Given the description of an element on the screen output the (x, y) to click on. 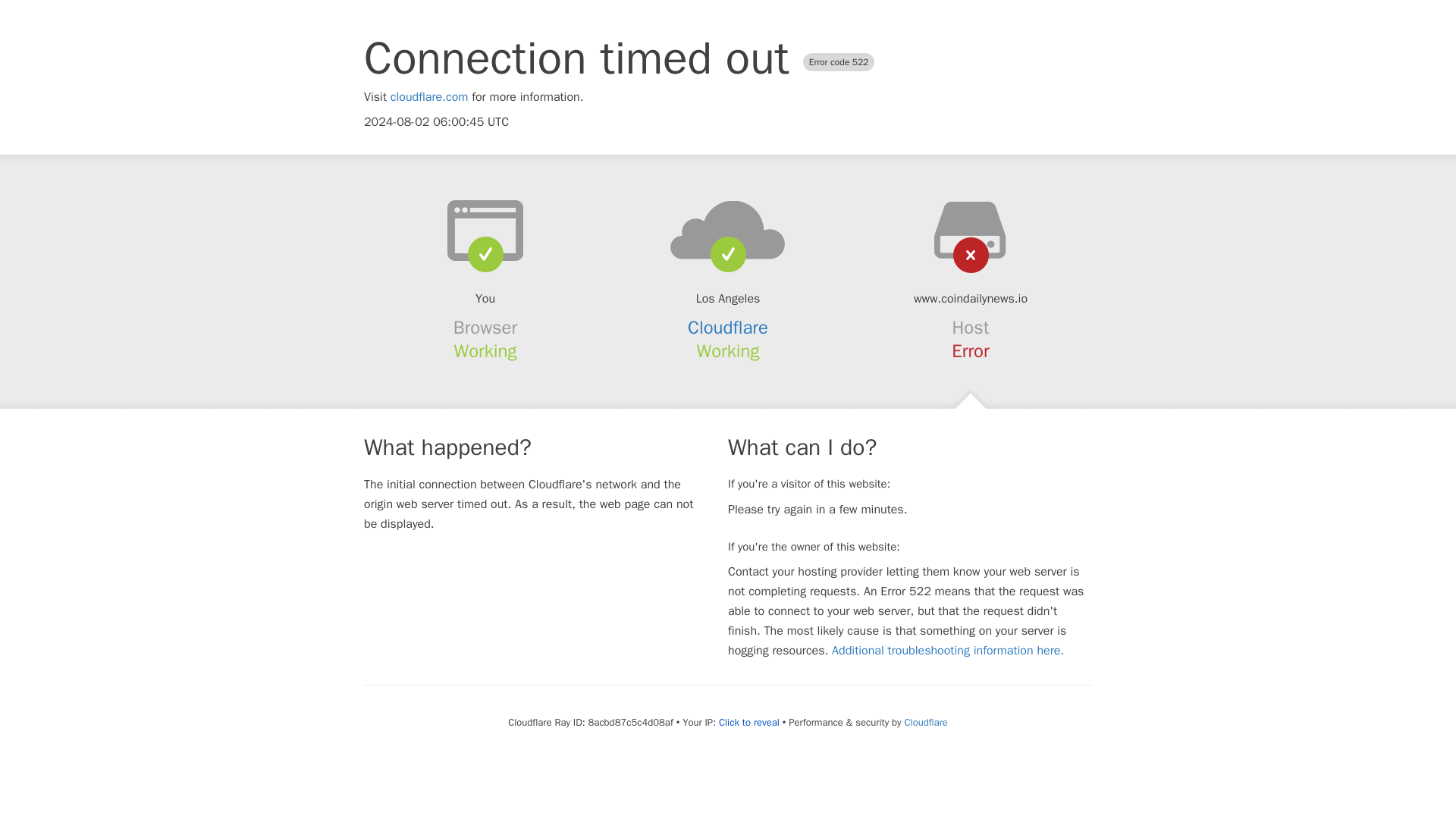
Click to reveal (748, 722)
cloudflare.com (429, 96)
Cloudflare (925, 721)
Cloudflare (727, 327)
Additional troubleshooting information here. (947, 650)
